Given the description of an element on the screen output the (x, y) to click on. 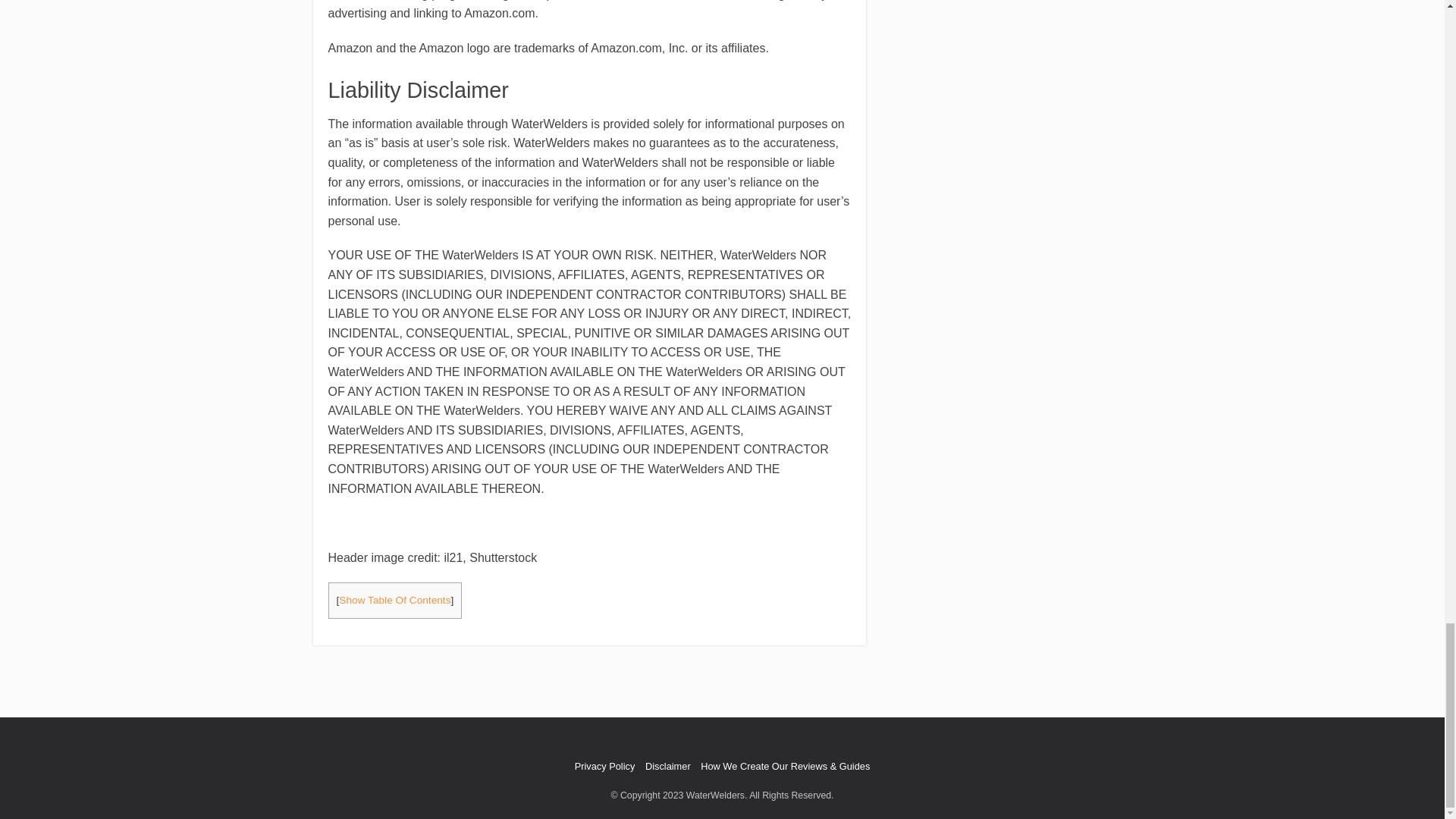
Show Table Of Contents (394, 600)
Disclaimer (667, 766)
Privacy Policy (604, 766)
